Given the description of an element on the screen output the (x, y) to click on. 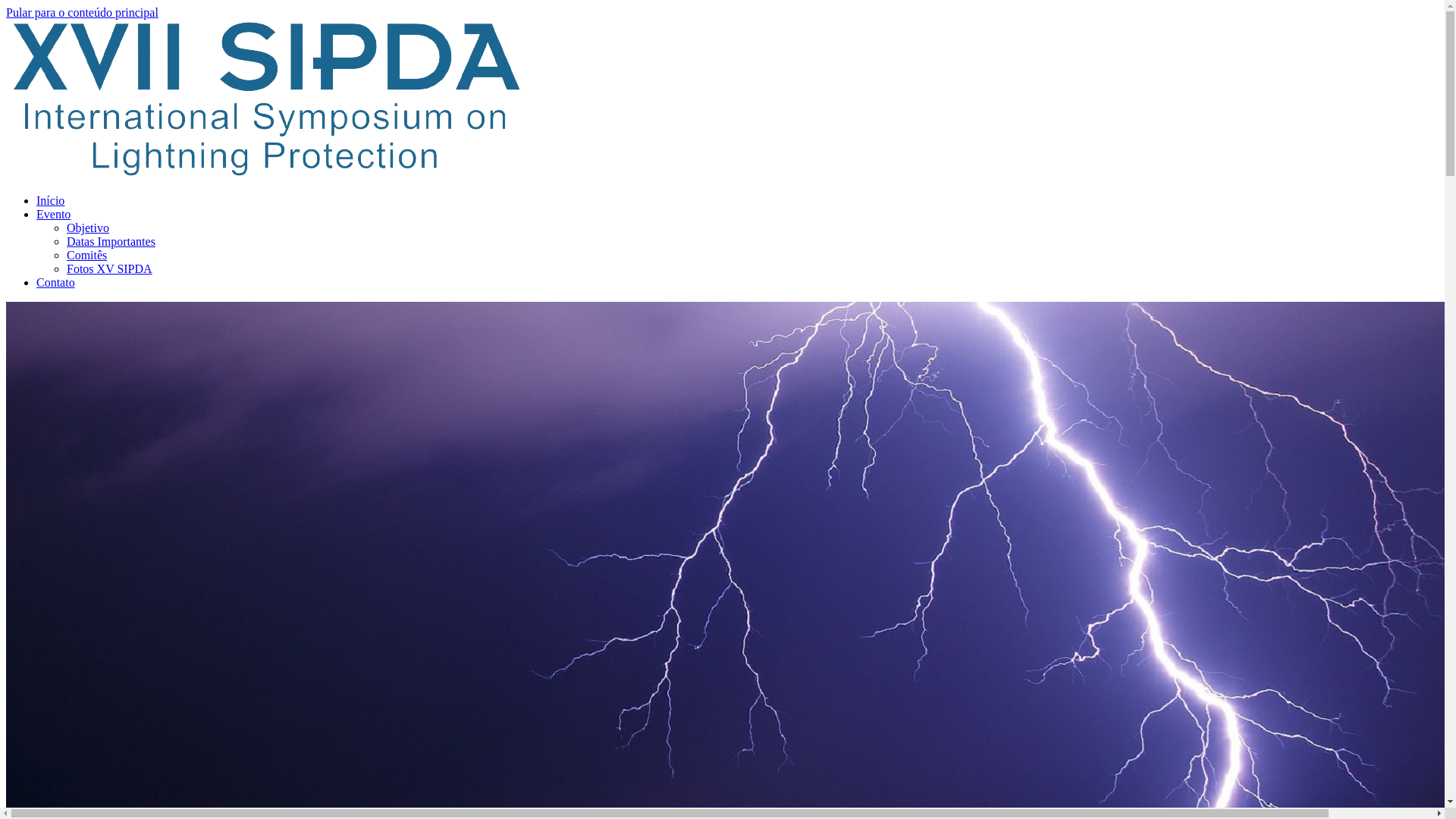
Objetivo Element type: text (87, 227)
Contato Element type: text (55, 282)
Fotos XV SIPDA Element type: text (109, 268)
Datas Importantes Element type: text (110, 241)
Evento Element type: text (53, 213)
